Given the description of an element on the screen output the (x, y) to click on. 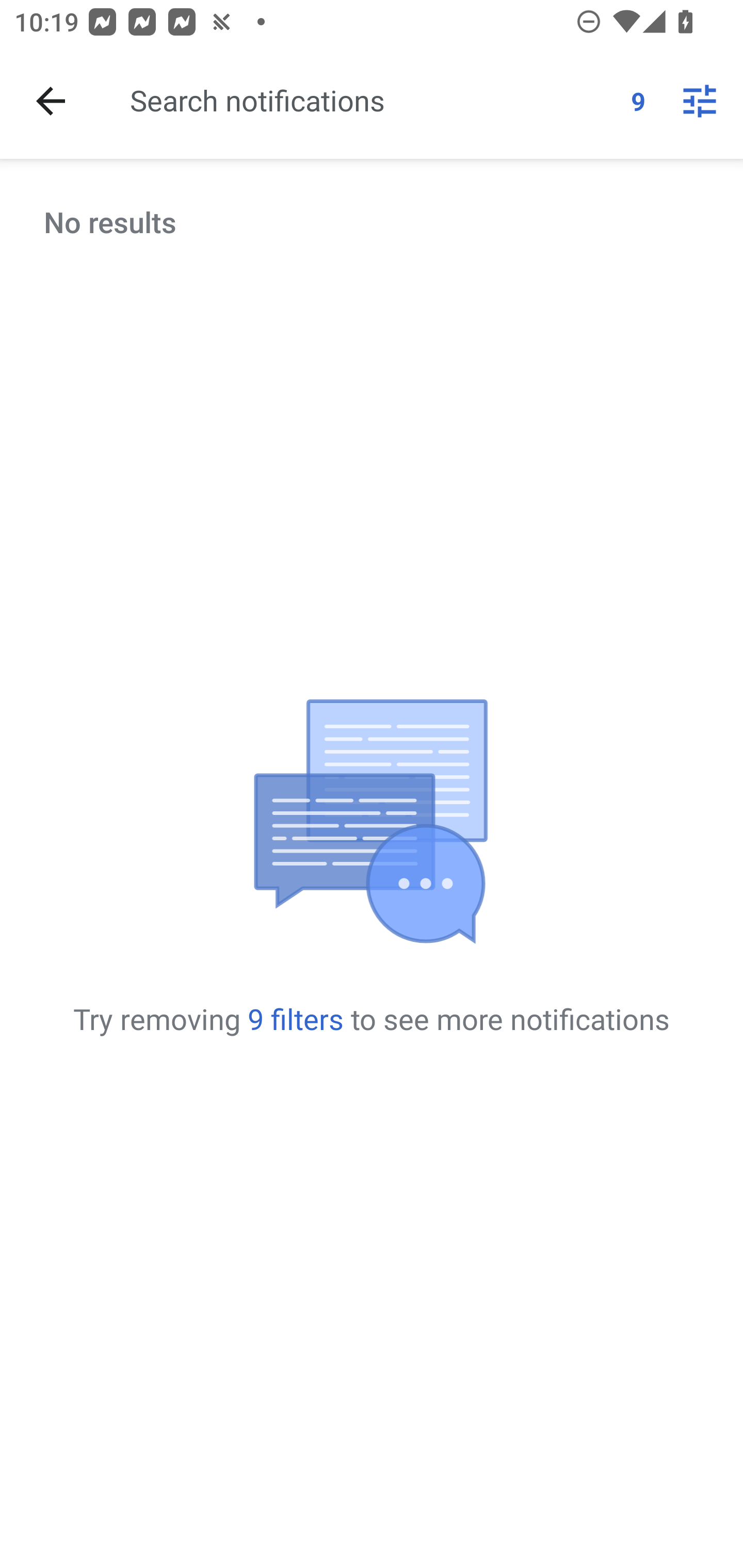
Done (50, 101)
More (699, 101)
Search notifications (373, 100)
